Given the description of an element on the screen output the (x, y) to click on. 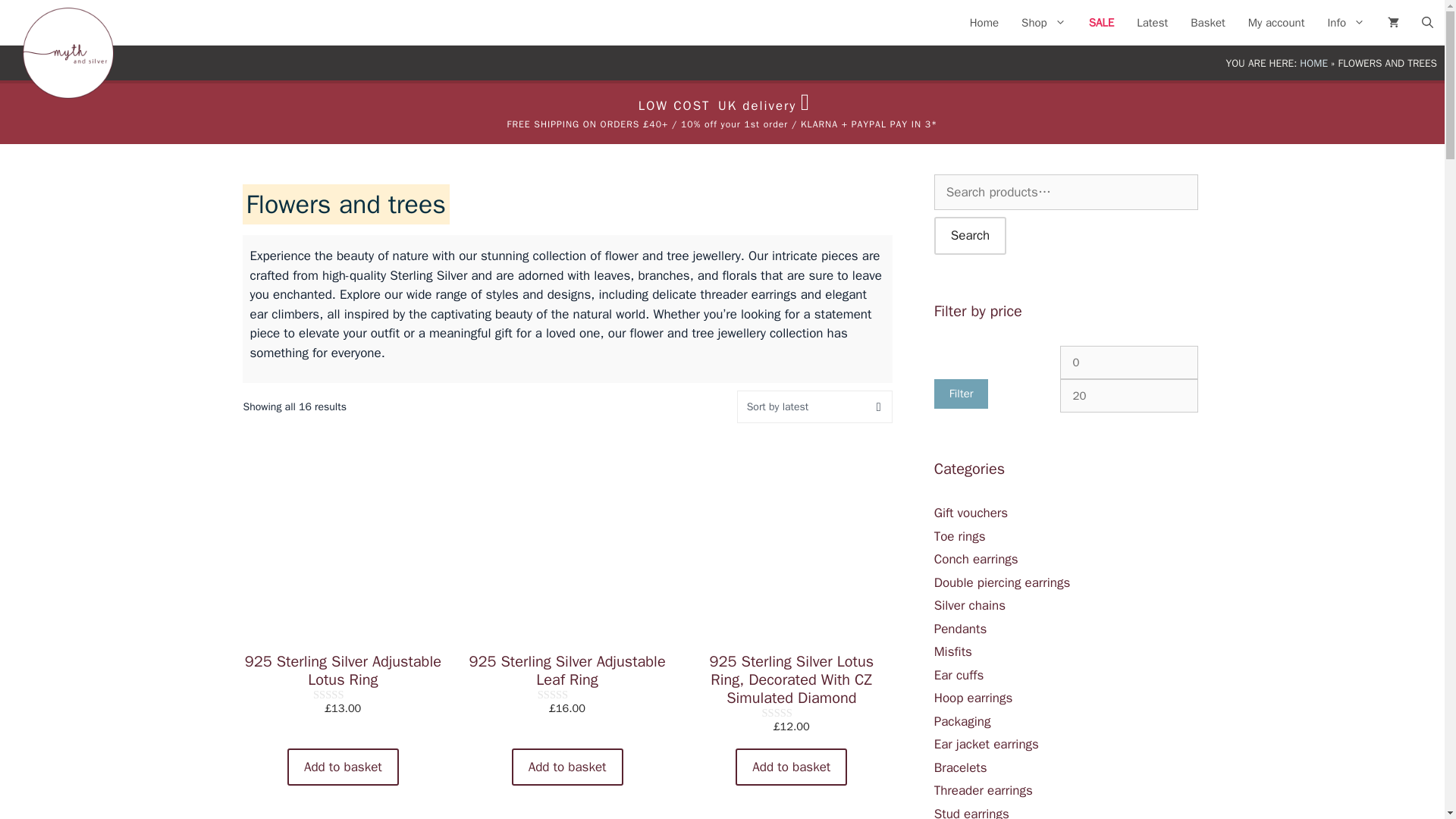
My account (1276, 22)
20 (1128, 395)
SALE (1101, 22)
Basket (1207, 22)
Add to basket (567, 767)
0 (1128, 362)
Not yet rated (566, 695)
Latest (1152, 22)
Shop (1043, 22)
Info (1345, 22)
